Given the description of an element on the screen output the (x, y) to click on. 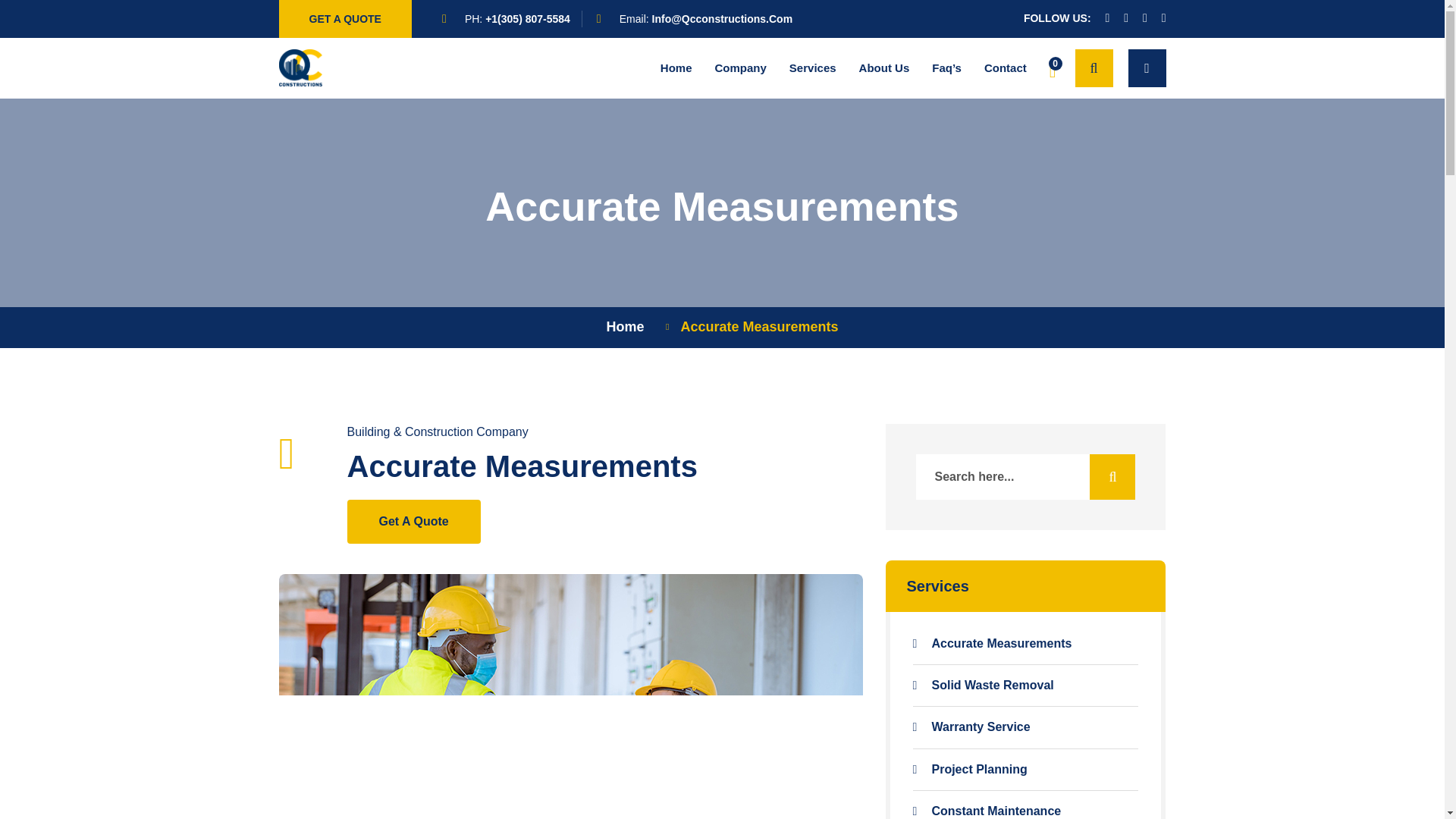
Warranty Service (1025, 727)
Constant Maintenance (1025, 811)
qcconstructions (301, 67)
Home   (627, 326)
Accurate Measurements (1025, 643)
Project Planning (1025, 769)
Get A Quote (413, 521)
Solid Waste Removal (1025, 685)
GET A QUOTE (345, 18)
